Given the description of an element on the screen output the (x, y) to click on. 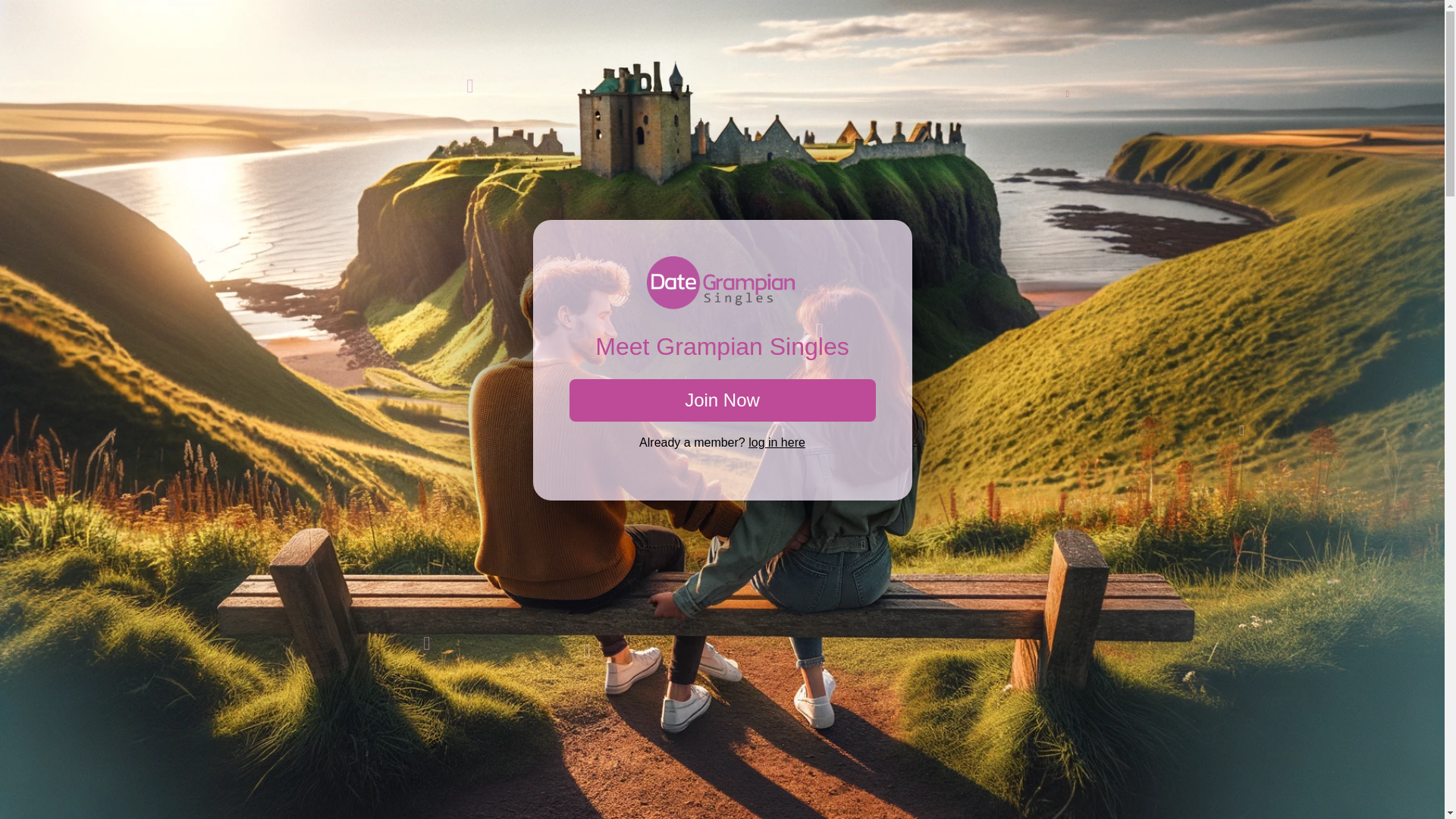
Join Now (722, 400)
log in here (776, 441)
